Given the description of an element on the screen output the (x, y) to click on. 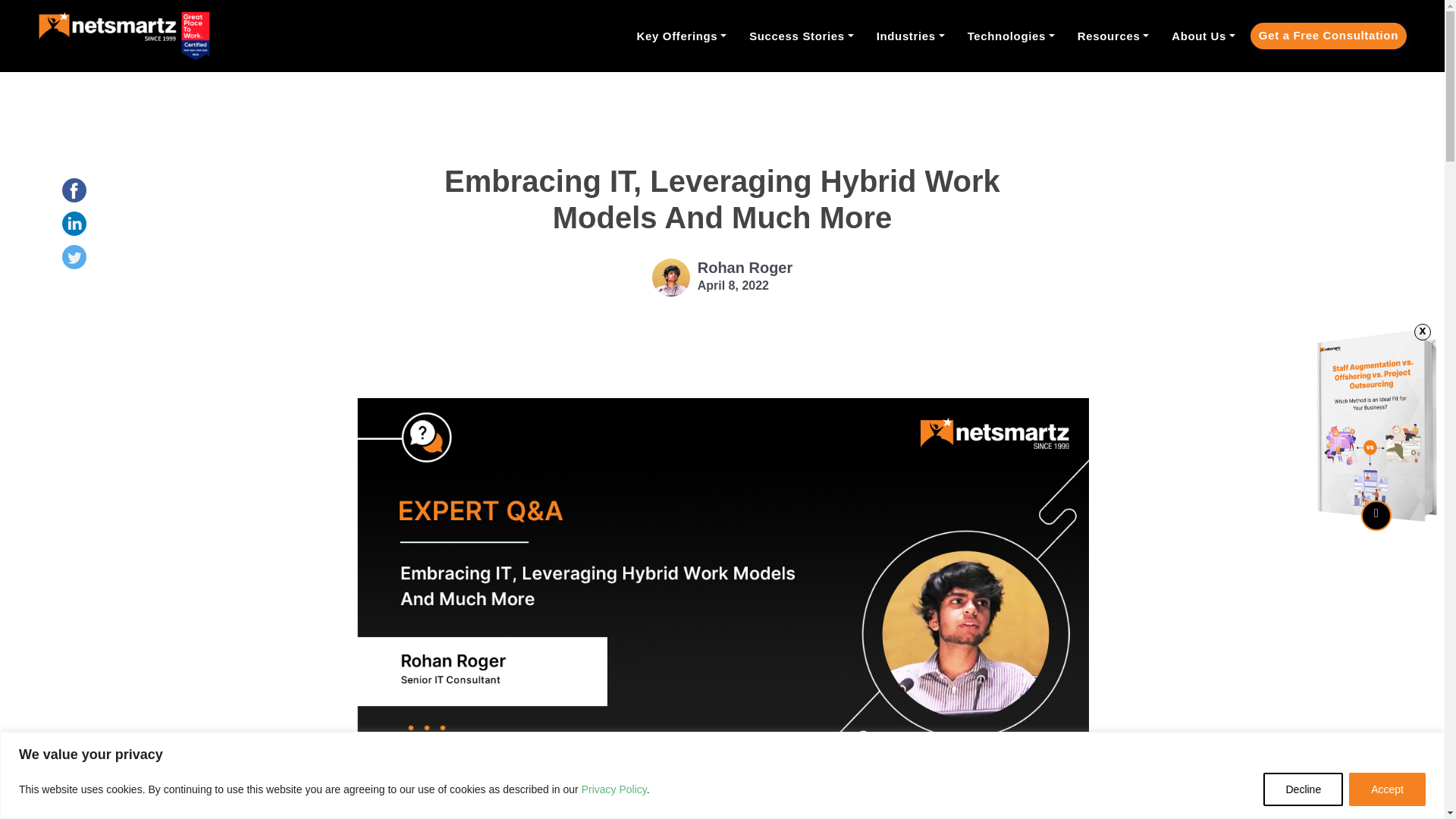
Success Stories (800, 35)
Industries (910, 35)
Privacy Policy (613, 788)
Decline (1302, 788)
Accept (1387, 788)
Key Offerings (681, 35)
